Given the description of an element on the screen output the (x, y) to click on. 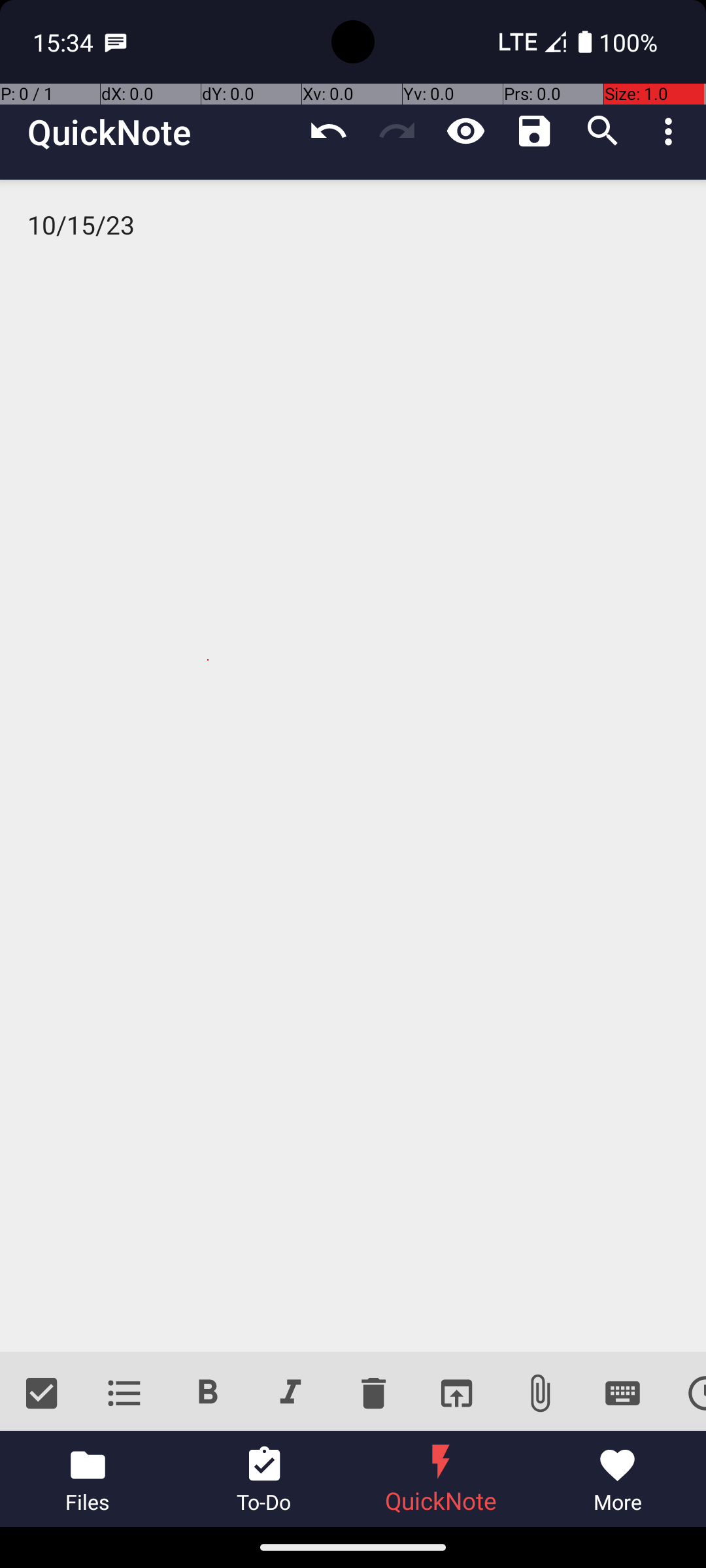
10/15/23 Element type: android.widget.EditText (353, 765)
